Given the description of an element on the screen output the (x, y) to click on. 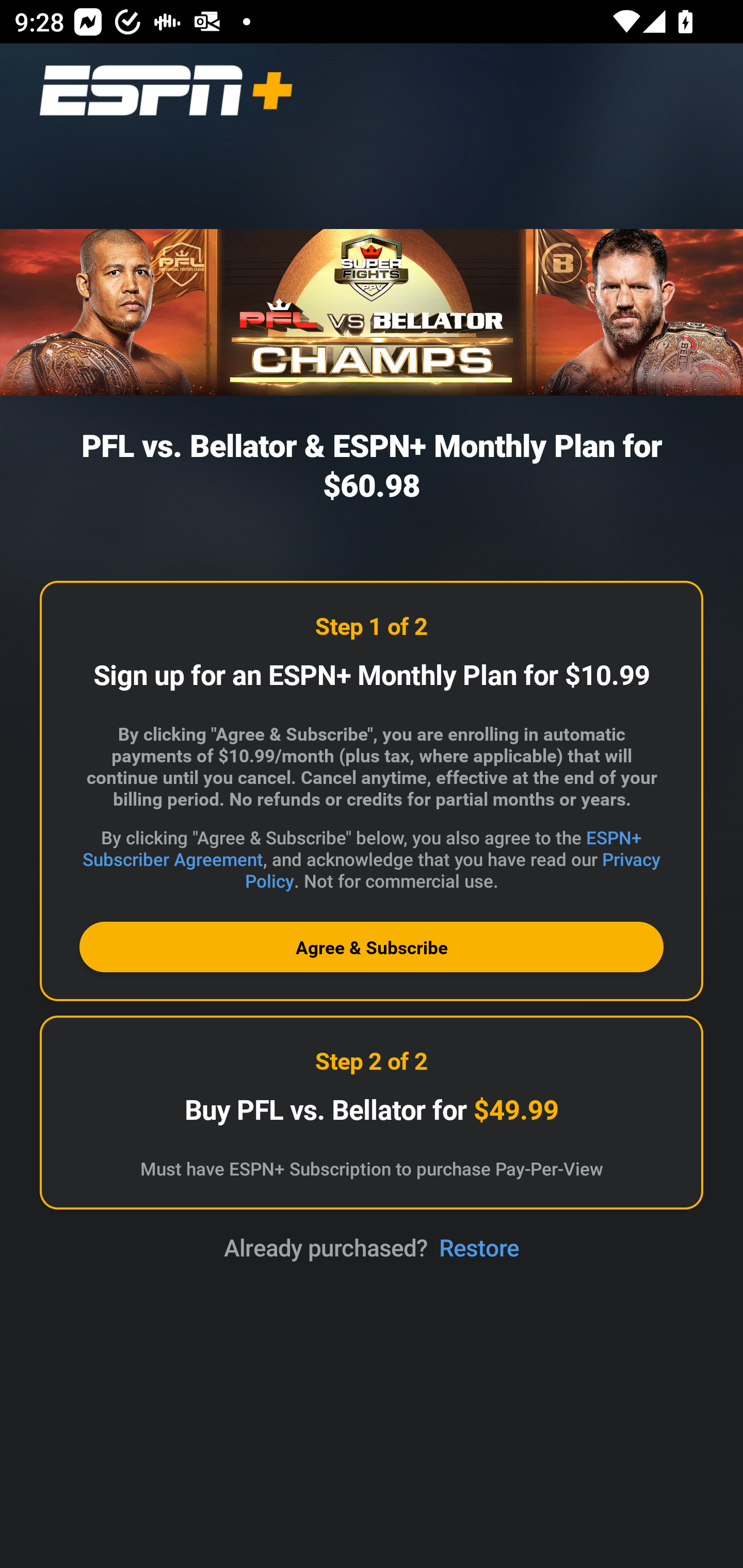
Agree & Subscribe (371, 946)
